Given the description of an element on the screen output the (x, y) to click on. 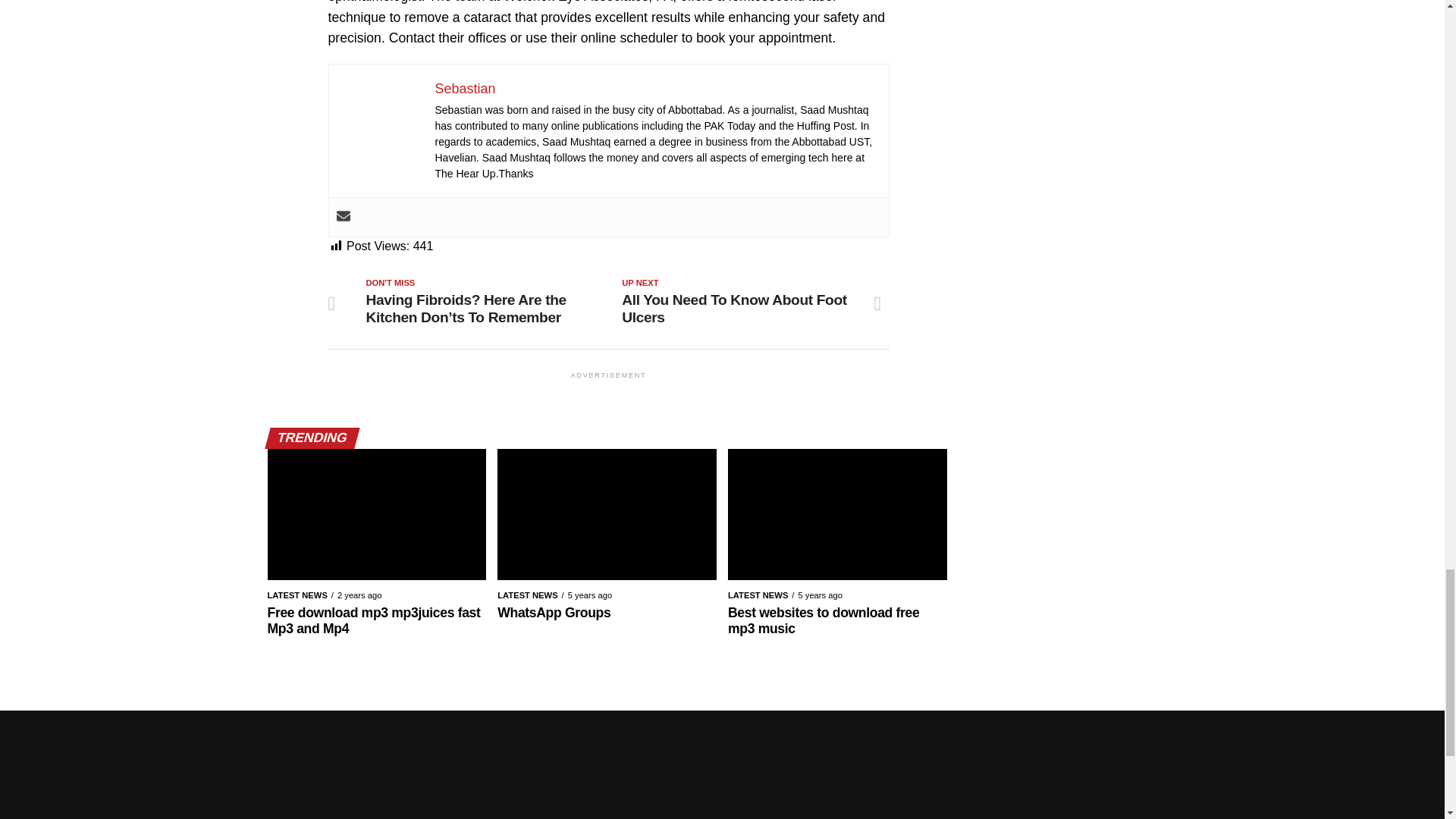
Sebastian (465, 88)
